Given the description of an element on the screen output the (x, y) to click on. 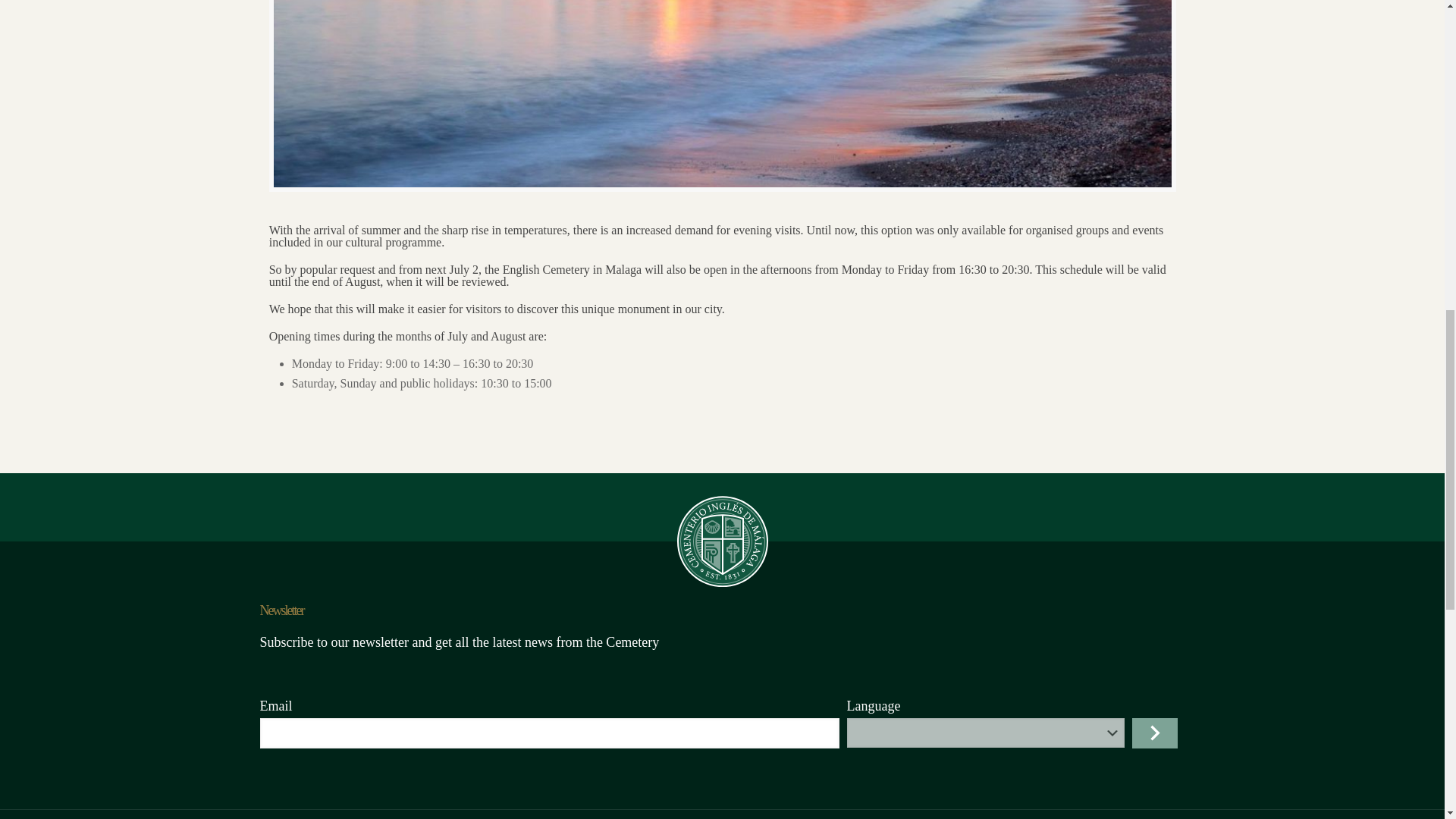
Subscribe (1153, 733)
Subscribe (1153, 733)
